Given the description of an element on the screen output the (x, y) to click on. 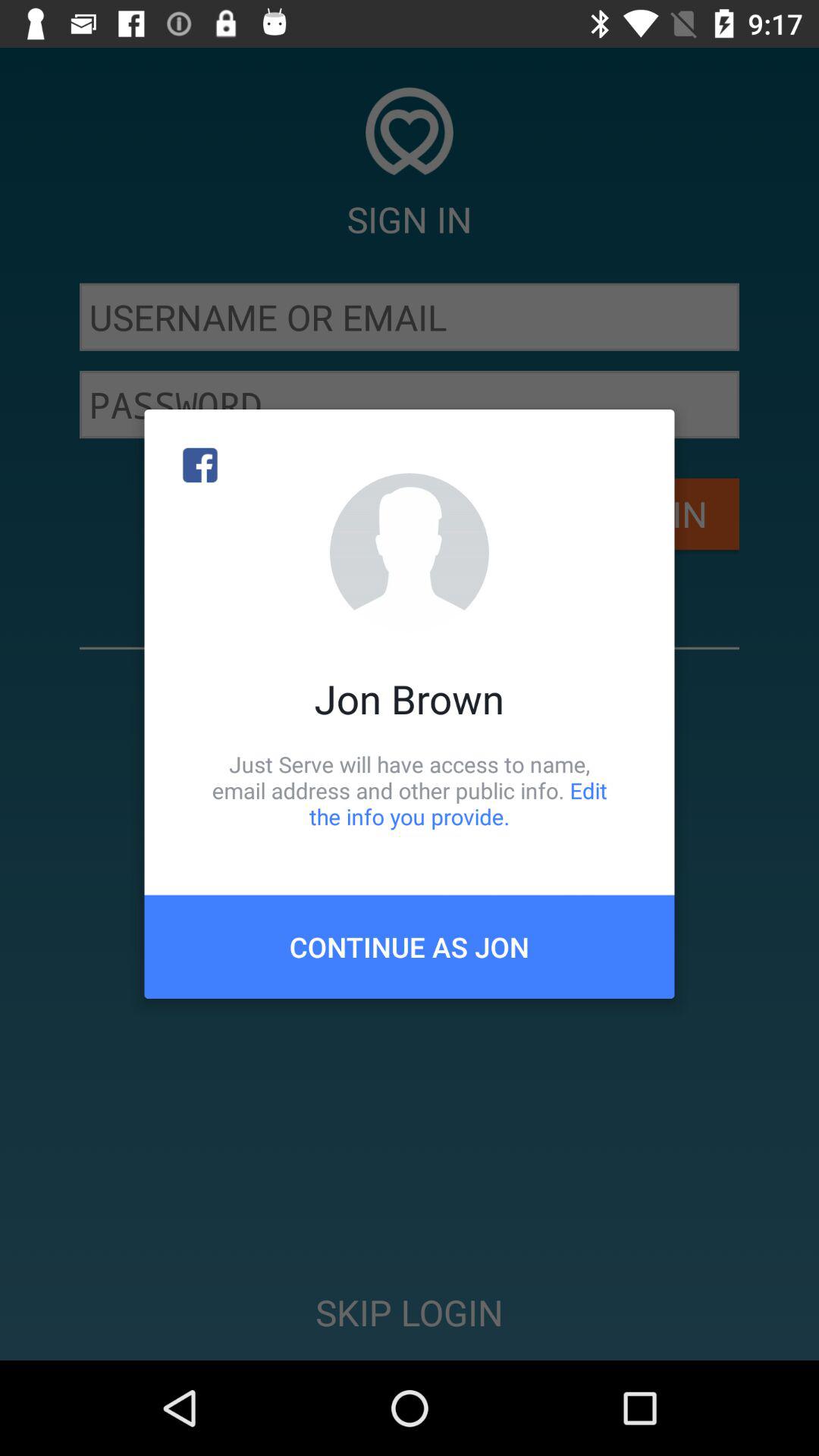
turn off just serve will item (409, 790)
